Given the description of an element on the screen output the (x, y) to click on. 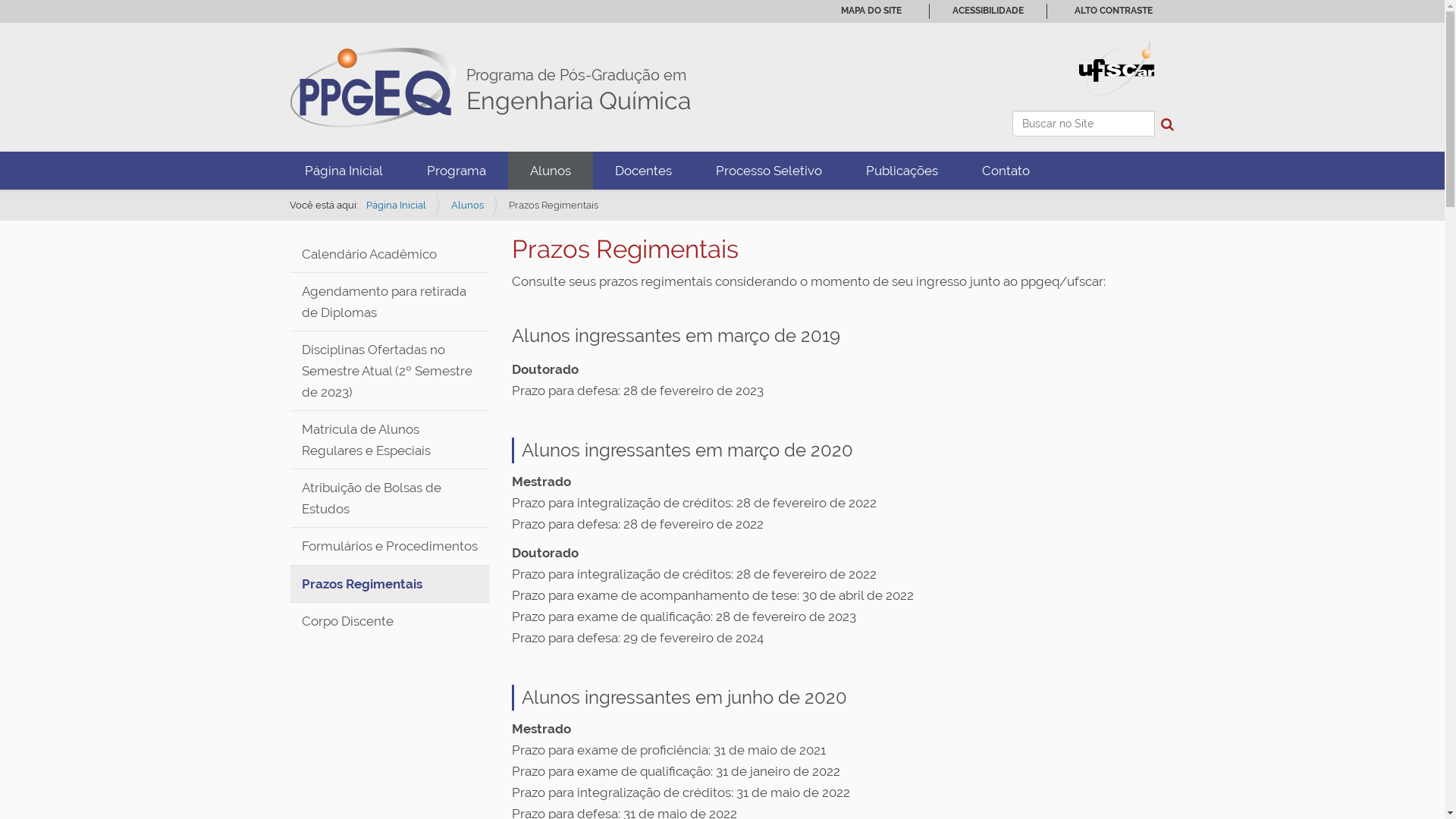
Processo Seletivo Element type: text (768, 170)
MAPA DO SITE Element type: text (870, 10)
Programa Element type: text (456, 170)
Alunos Element type: text (550, 170)
ALTO CONTRASTE Element type: text (1112, 10)
ACESSIBILIDADE Element type: text (987, 10)
Corpo Discente Element type: text (389, 620)
Contato Element type: text (1005, 170)
Docentes Element type: text (643, 170)
Agendamento para retirada de Diplomas Element type: text (389, 301)
Alunos Element type: text (466, 204)
Prazos Regimentais Element type: text (389, 583)
Portal UFSCar Element type: hover (1116, 66)
Buscar no Site Element type: hover (1083, 123)
